Given the description of an element on the screen output the (x, y) to click on. 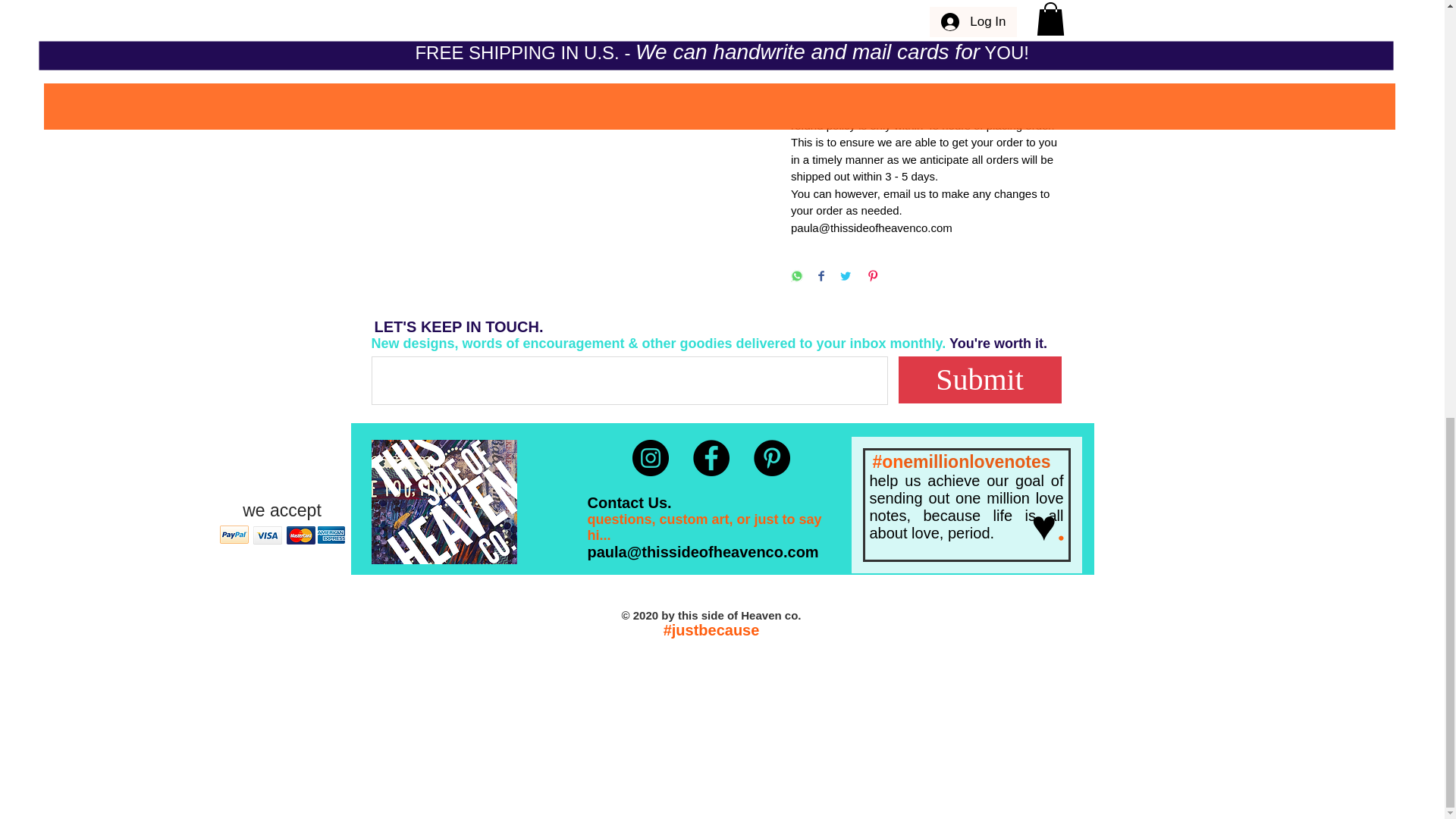
RETURN AND REFUND POLICY (924, 59)
Submit (979, 379)
